Given the description of an element on the screen output the (x, y) to click on. 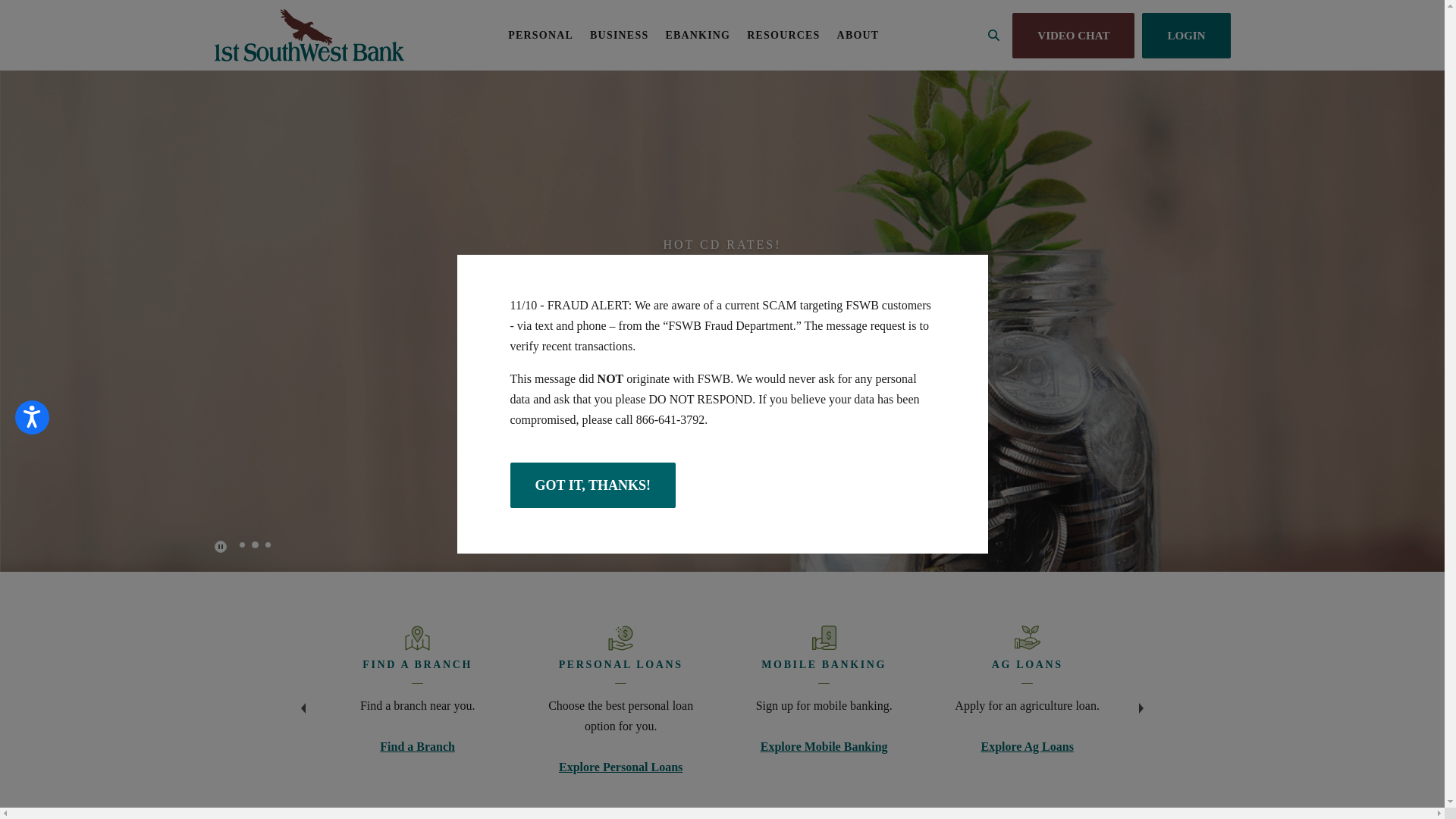
Explore Personal Loans Element type: text (620, 766)
Next Element type: text (1141, 700)
1 Element type: text (240, 543)
2 Element type: text (254, 544)
First Southwest Bank, Alamosa, CO Element type: hover (308, 34)
Play Main Slider/Pause Main Slider Element type: text (219, 546)
Explore Mobile Banking Element type: text (824, 746)
DOWNLOAD THE APP Element type: text (722, 416)
Find a Branch Element type: text (417, 746)
VIDEO CHAT
(OPENS IN A NEW WINDOW) Element type: text (1073, 34)
Previous Element type: text (303, 700)
LOGIN Element type: text (1186, 34)
3 Element type: text (267, 544)
Explore Ag Loans Element type: text (1026, 745)
